Given the description of an element on the screen output the (x, y) to click on. 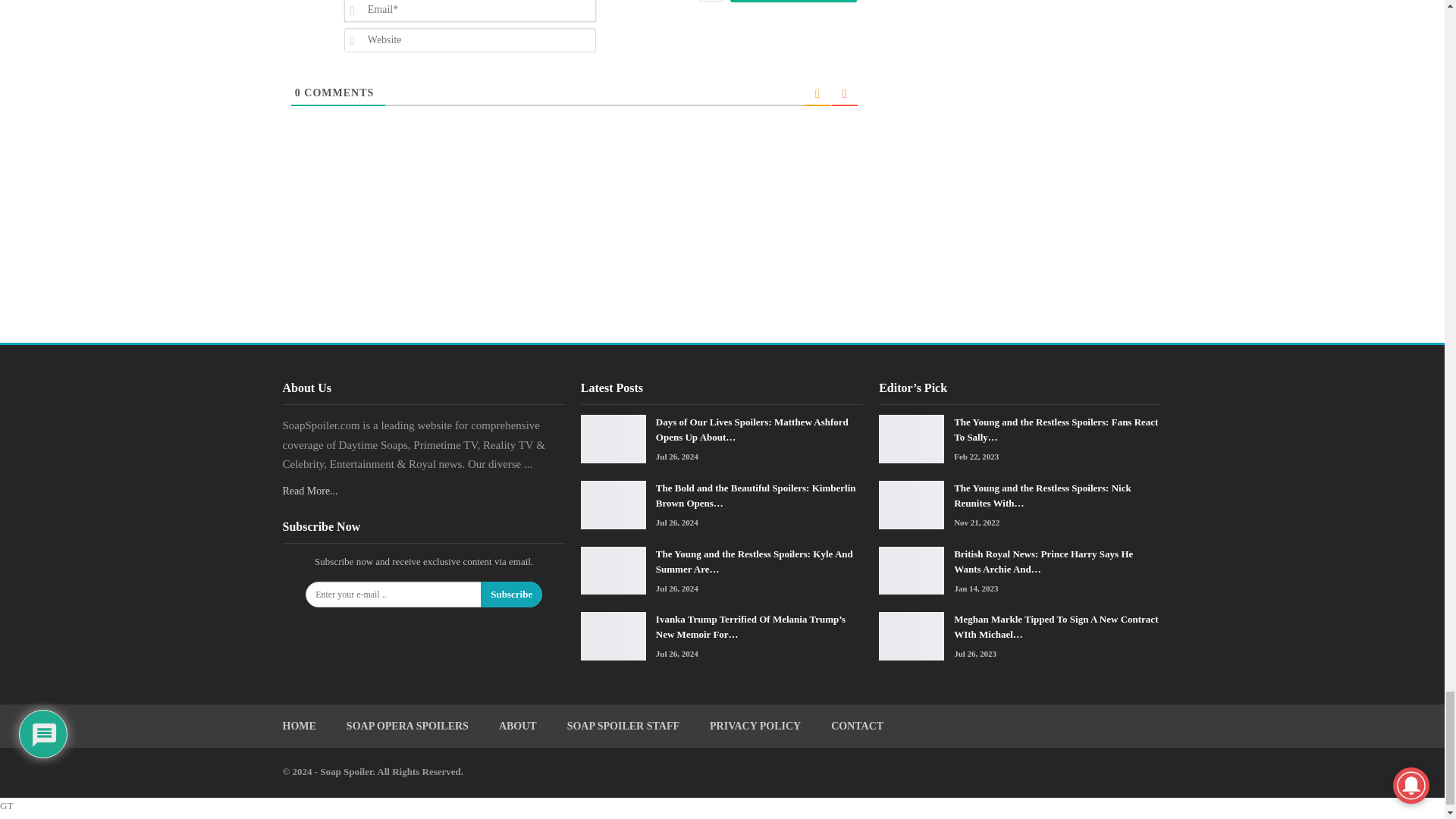
Post Comment (793, 1)
